Given the description of an element on the screen output the (x, y) to click on. 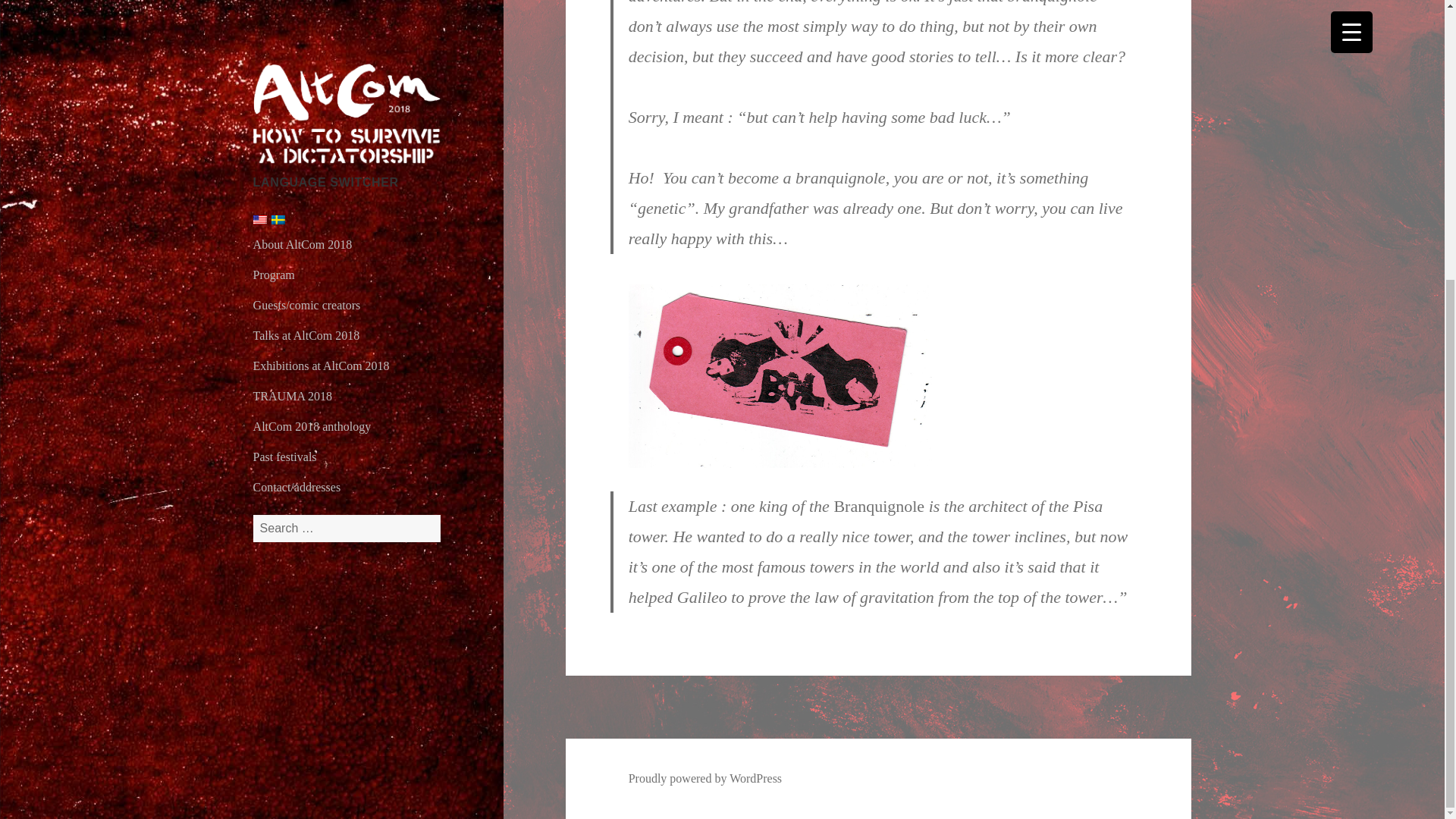
Past festivals (285, 39)
Proudly powered by WordPress (704, 778)
AltCom 2018 anthology (312, 9)
